Given the description of an element on the screen output the (x, y) to click on. 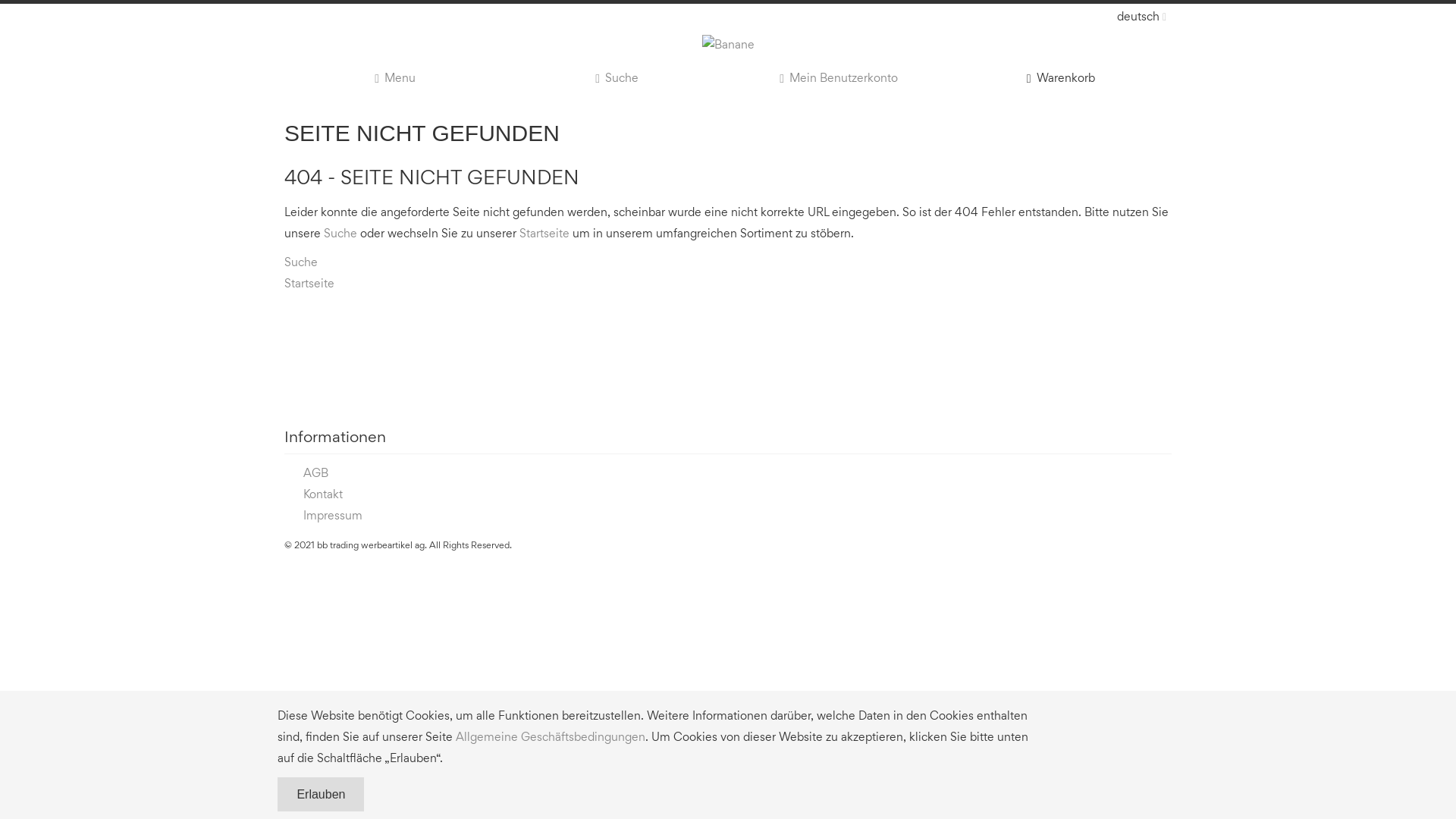
Startseite Element type: text (544, 234)
Erlauben Element type: text (320, 794)
Suche Element type: text (617, 78)
Startseite Element type: text (309, 284)
  deutsch Element type: text (1131, 17)
Mein Benutzerkonto Element type: text (839, 78)
Banane Element type: hover (727, 45)
Menu Element type: text (395, 78)
AGB Element type: text (315, 473)
Suche Element type: text (300, 262)
Kontakt Element type: text (322, 494)
Warenkorb Element type: text (1060, 78)
Impressum Element type: text (332, 516)
Suche Element type: text (340, 234)
